Given the description of an element on the screen output the (x, y) to click on. 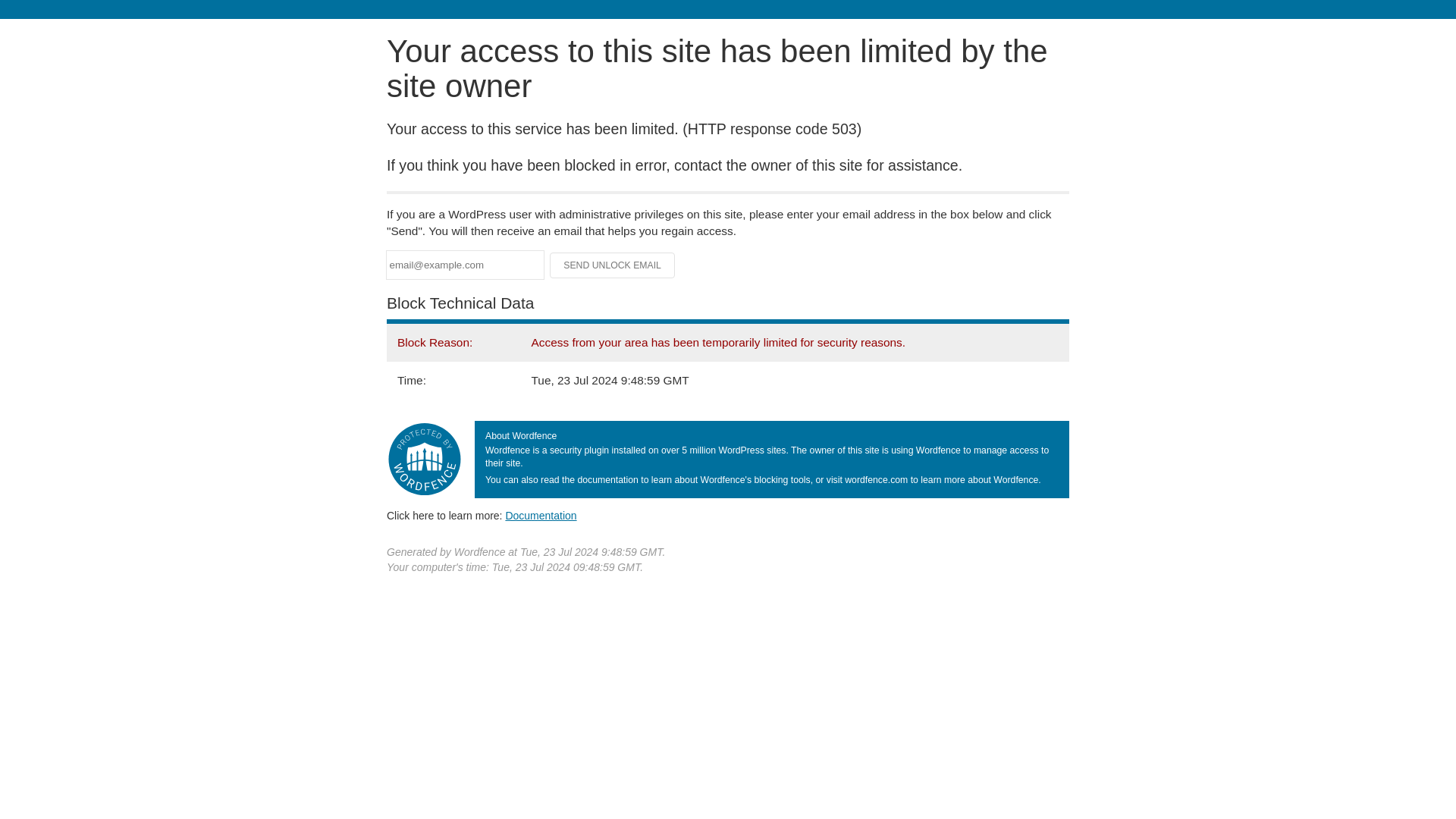
Documentation (540, 515)
Send Unlock Email (612, 265)
Send Unlock Email (612, 265)
